Given the description of an element on the screen output the (x, y) to click on. 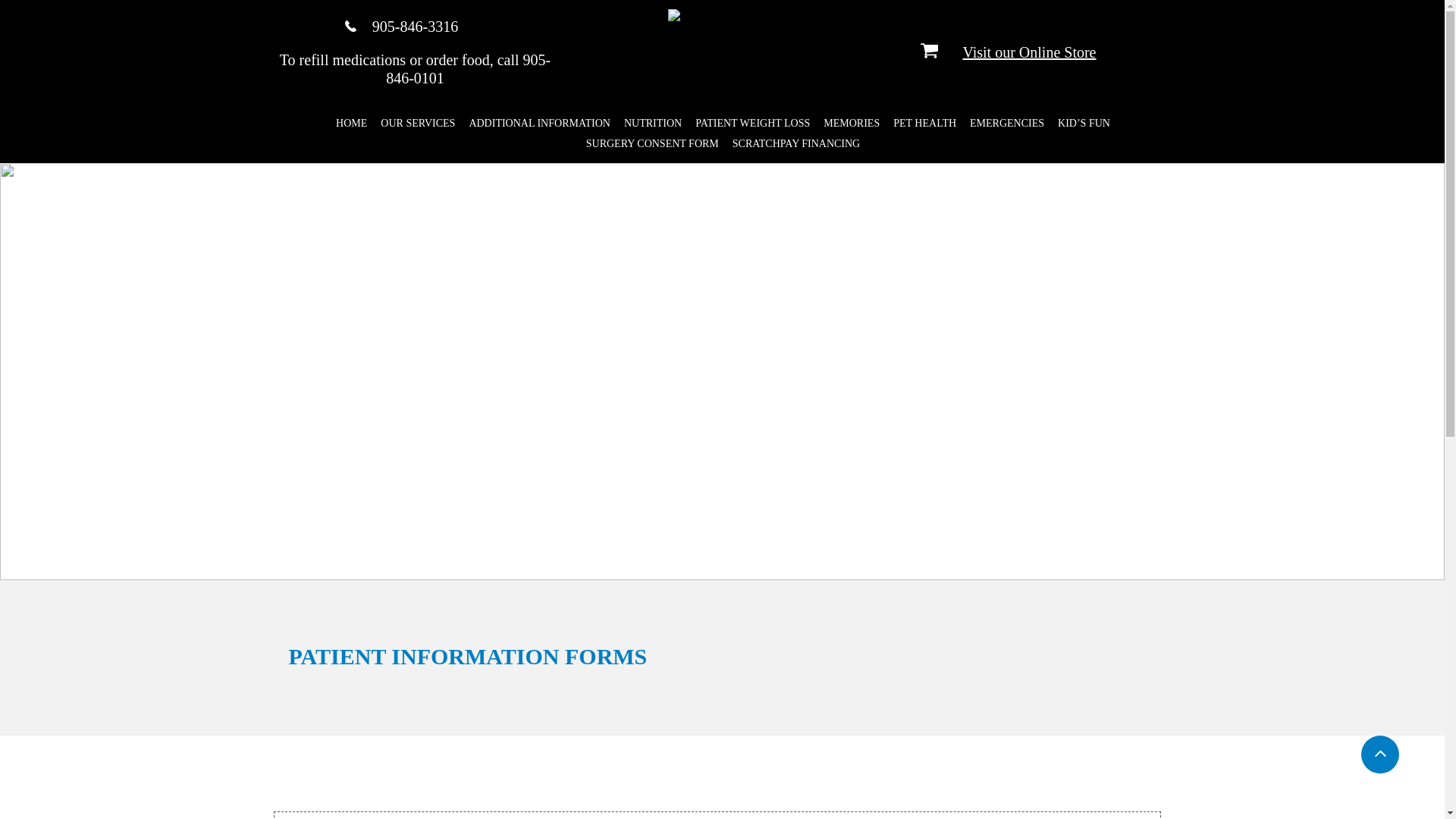
OUR SERVICES (416, 123)
MEMORIES (850, 123)
CVO-Accrediation-Emblem-Med-C.png (714, 56)
PATIENT WEIGHT LOSS (751, 123)
905-846-0101 (467, 68)
NUTRITION (651, 123)
905-846-3316 (415, 26)
HOME (350, 123)
Covid-19 screening questionnaire (446, 816)
Visit our Online Store (1029, 52)
EMERGENCIES (1005, 123)
PET HEALTH (923, 123)
SURGERY CONSENT FORM (651, 143)
SCRATCHPAY FINANCING (795, 143)
